Given the description of an element on the screen output the (x, y) to click on. 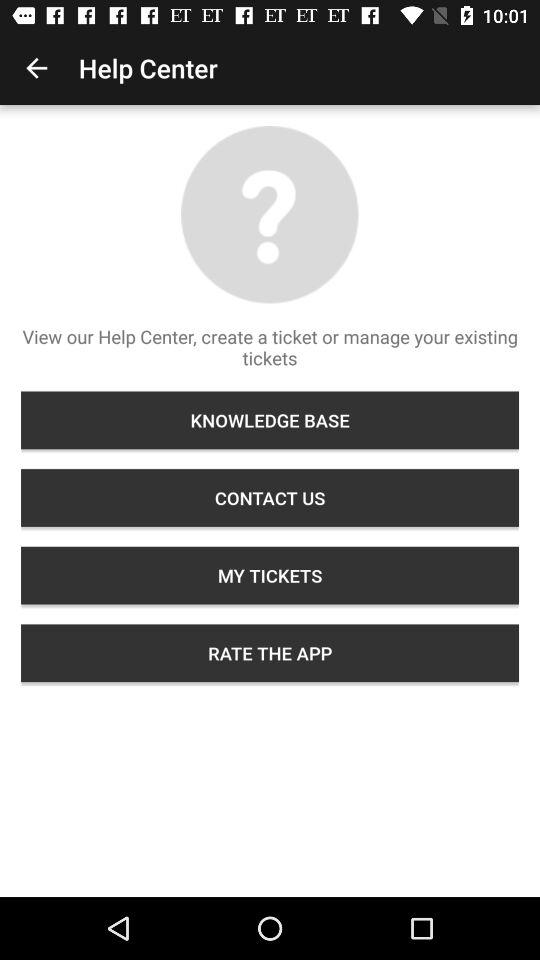
click the item above the view our help icon (36, 68)
